Given the description of an element on the screen output the (x, y) to click on. 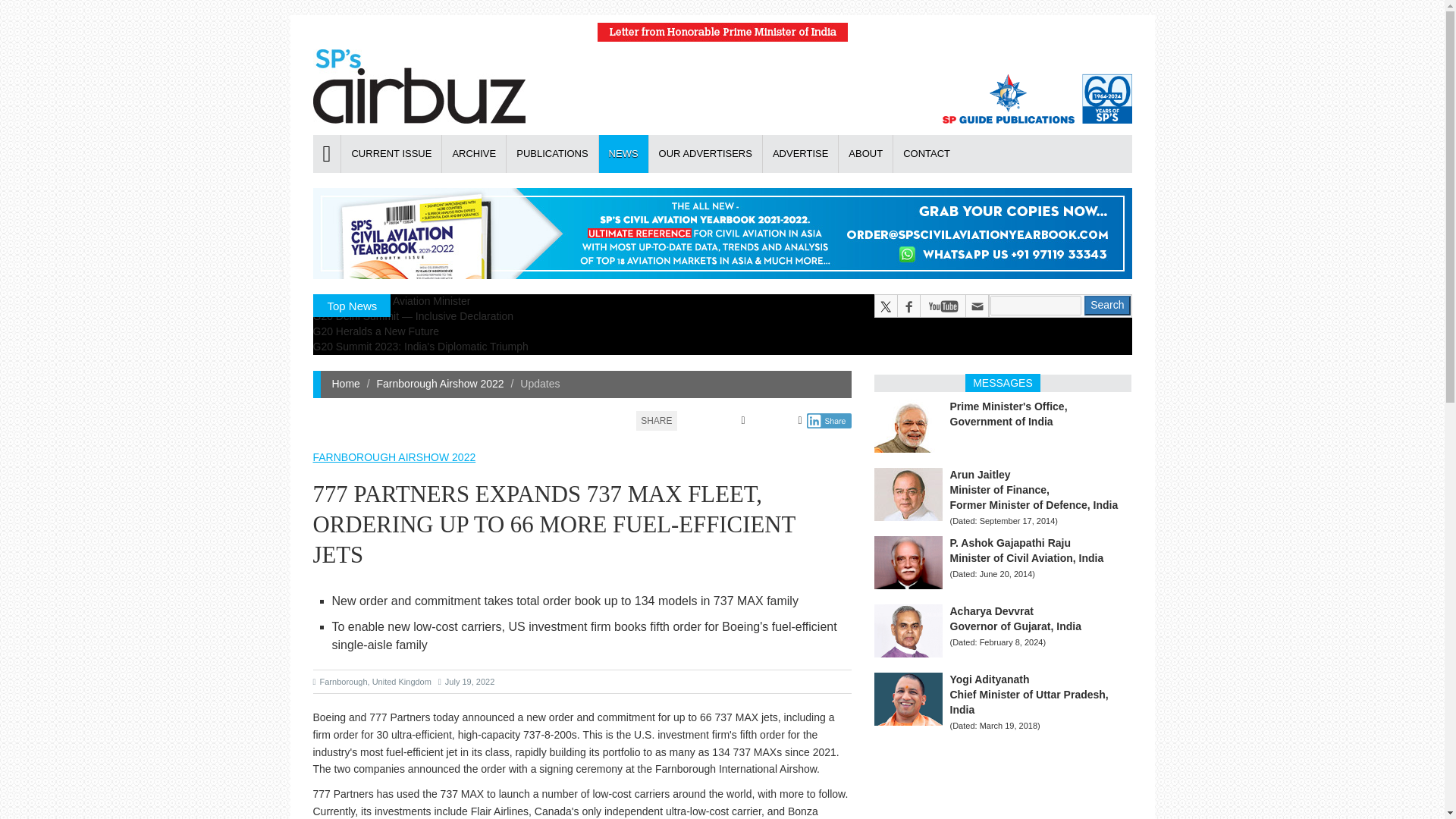
ADVERTISE (799, 153)
CONTACT (925, 153)
ARCHIVE (473, 153)
India's New Civil Aviation Minister (391, 300)
NEWS (622, 153)
CURRENT ISSUE (390, 153)
Search (1106, 305)
G20 Heralds a New Future (376, 331)
ABOUT (865, 153)
PUBLICATIONS (550, 153)
OUR ADVERTISERS (704, 153)
G20 Summit 2023: India's Diplomatic Triumph (420, 346)
